Given the description of an element on the screen output the (x, y) to click on. 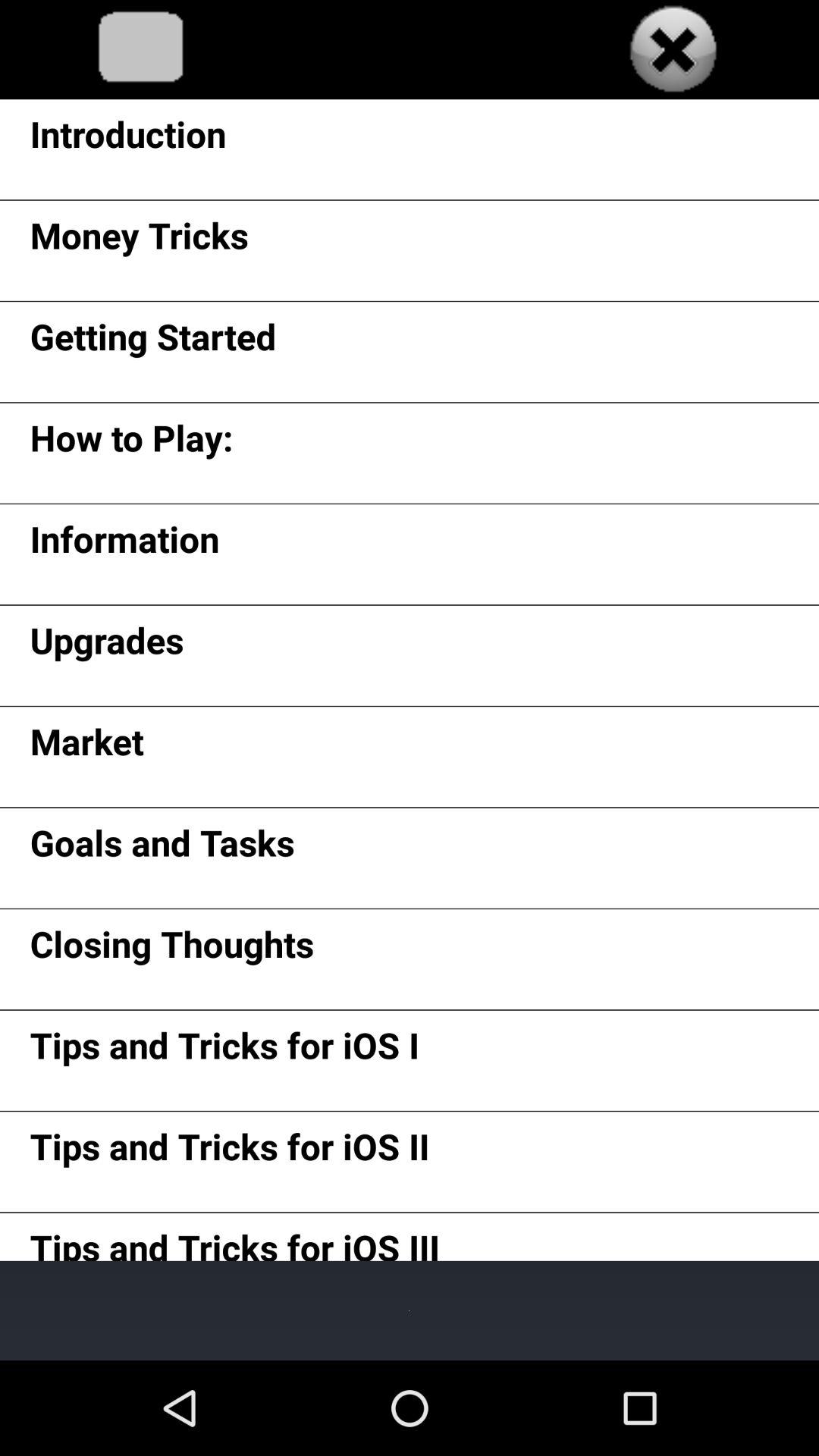
turn on the item below the information item (106, 645)
